Given the description of an element on the screen output the (x, y) to click on. 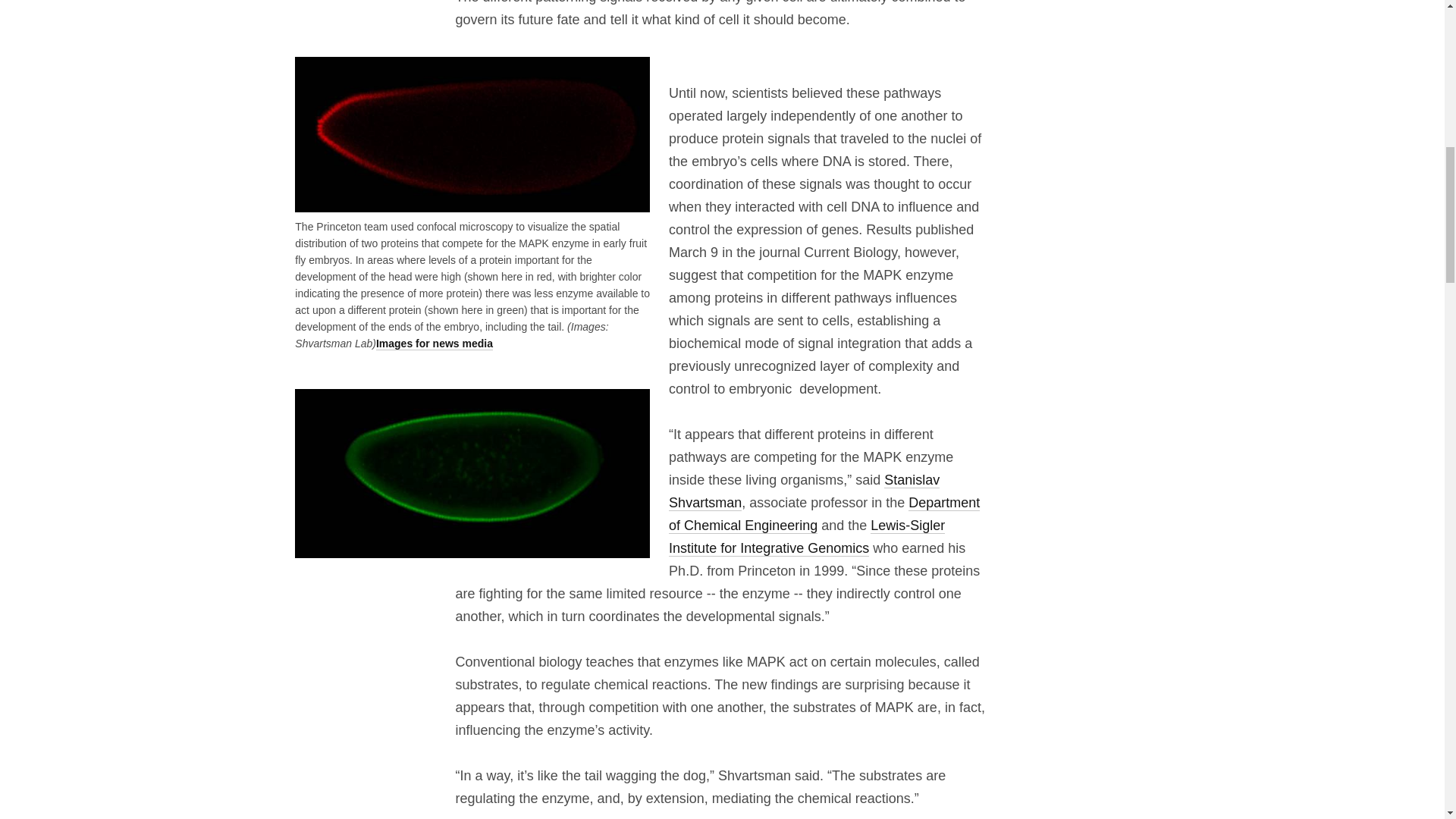
Images for news media (434, 343)
Stanislav Shvartsman (803, 491)
Department of Chemical Engineering (823, 514)
Lewis-Sigler Institute for Integrative Genomics (806, 536)
